Given the description of an element on the screen output the (x, y) to click on. 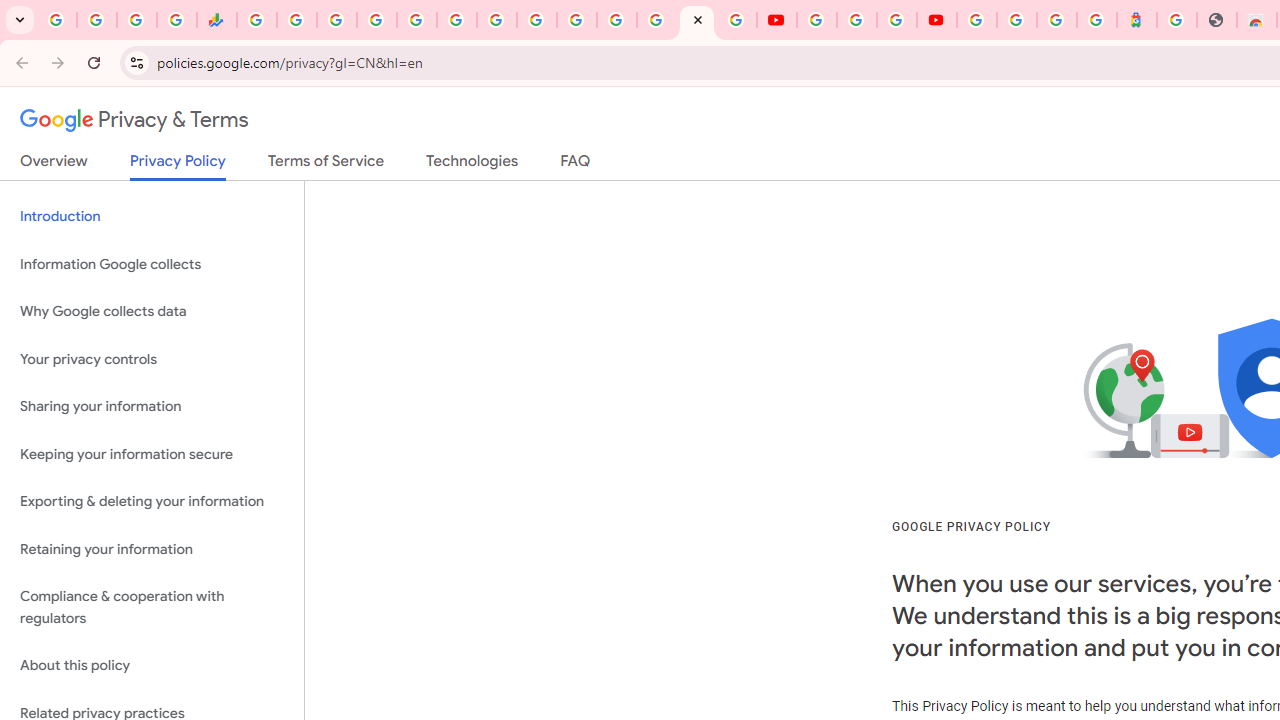
Reload (93, 62)
Forward (57, 62)
Information Google collects (152, 263)
YouTube (776, 20)
Google Workspace Admin Community (56, 20)
Technologies (472, 165)
Sign in - Google Accounts (1016, 20)
Content Creator Programs & Opportunities - YouTube Creators (936, 20)
System (10, 11)
System (10, 11)
